Given the description of an element on the screen output the (x, y) to click on. 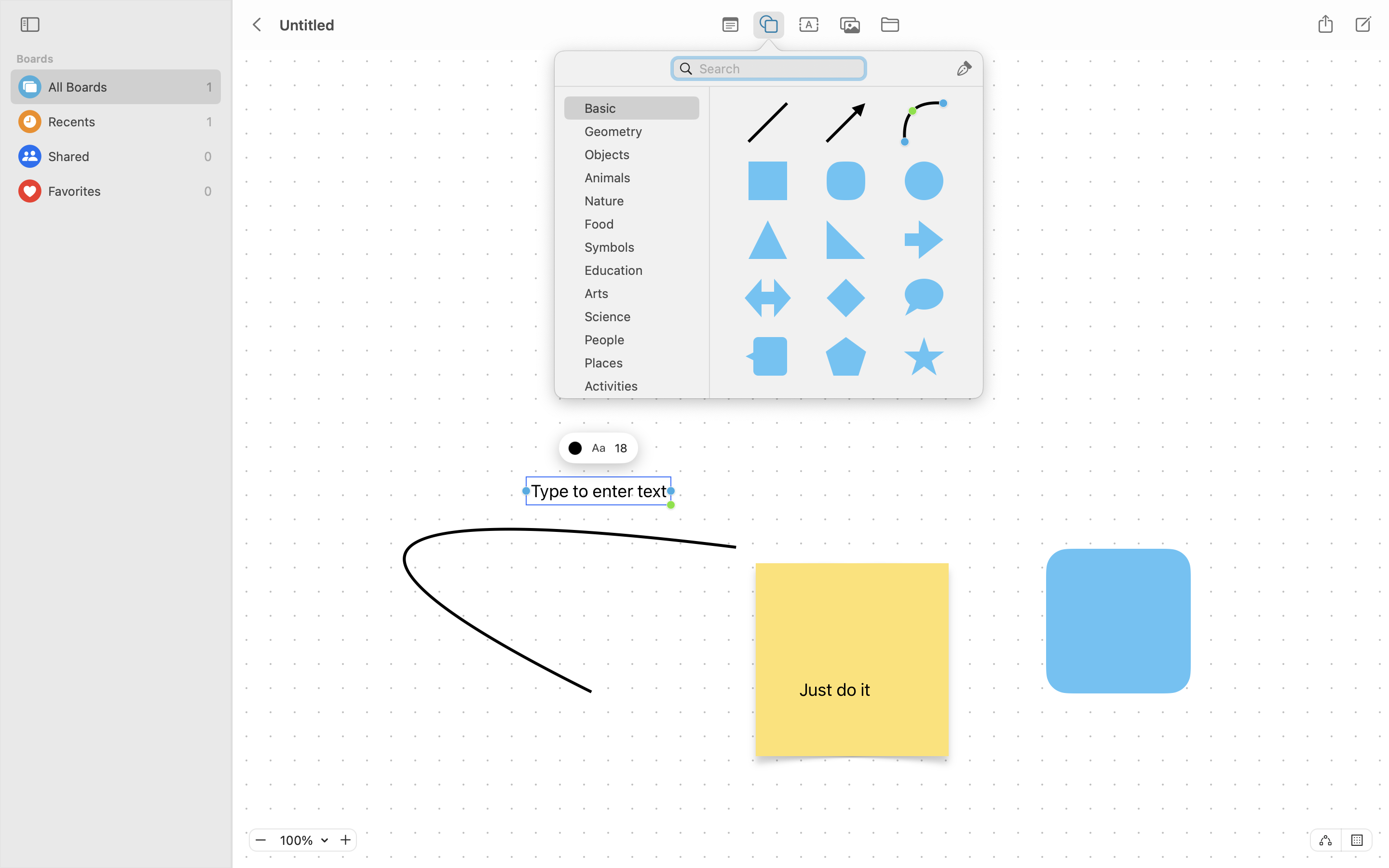
Arts Element type: AXStaticText (636, 296)
Basic Element type: AXStaticText (636, 111)
Nature Element type: AXStaticText (636, 204)
Food Element type: AXStaticText (636, 227)
Transportation Element type: AXStaticText (636, 412)
